Given the description of an element on the screen output the (x, y) to click on. 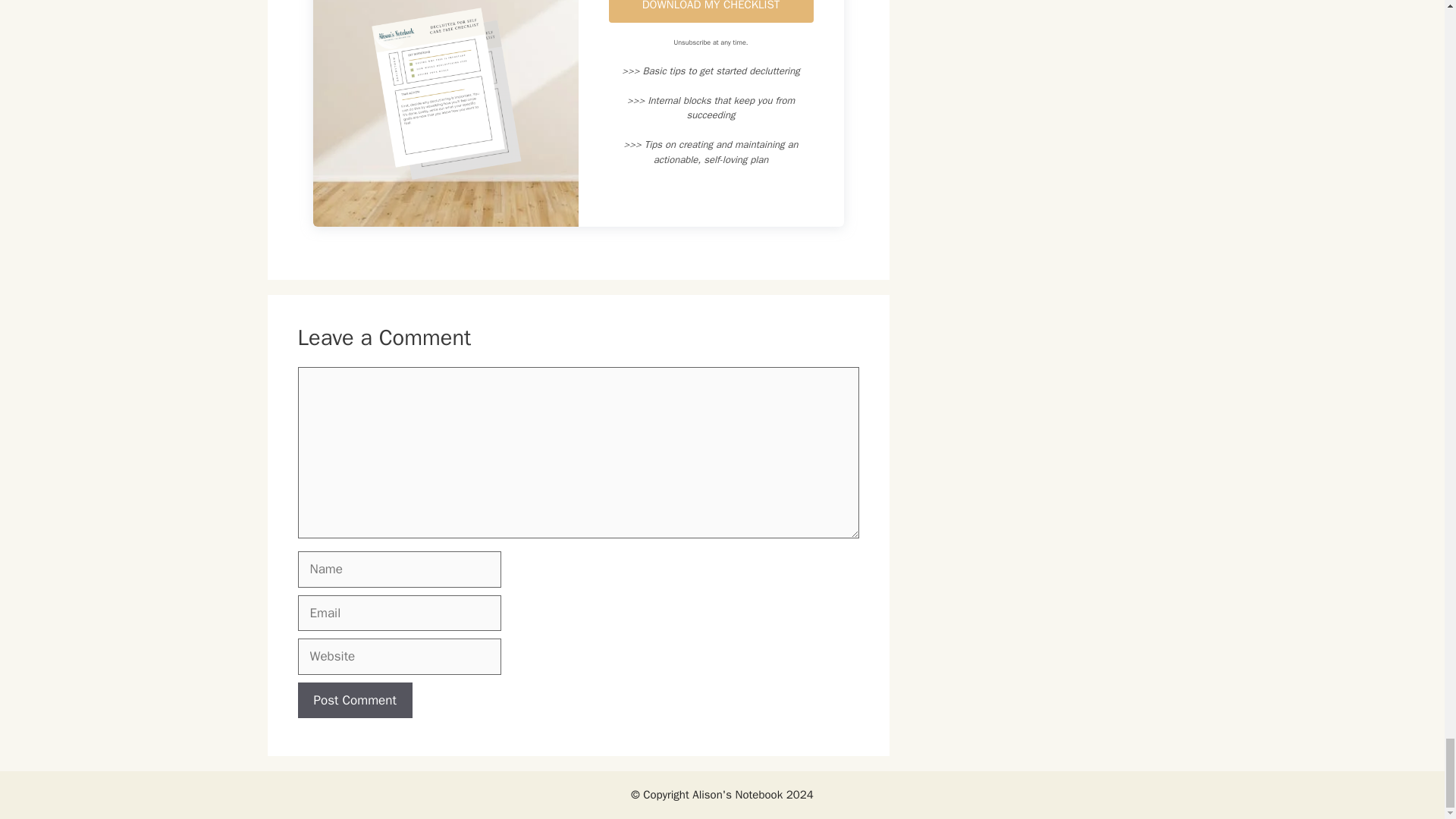
Post Comment (354, 700)
